Given the description of an element on the screen output the (x, y) to click on. 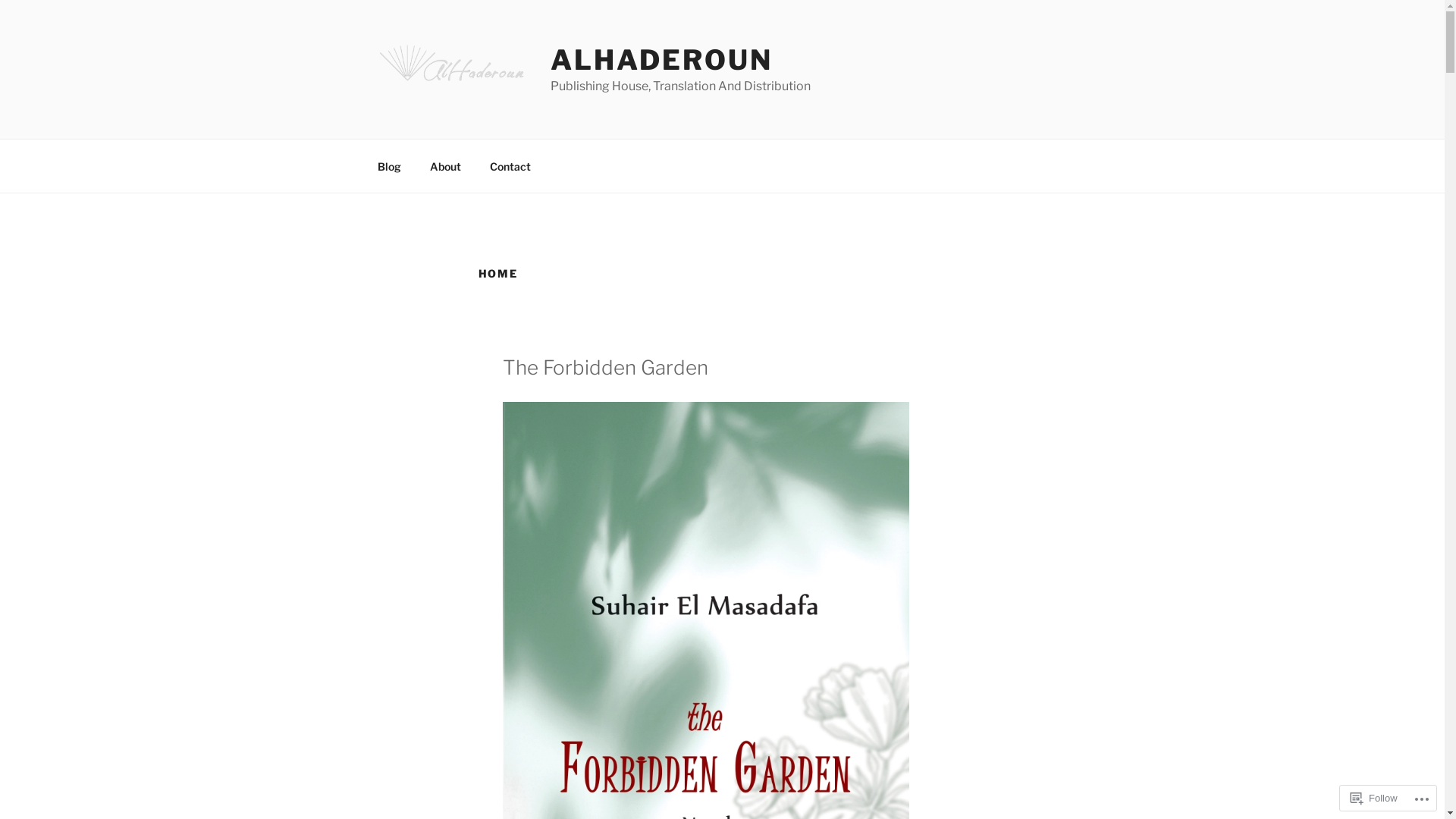
Contact Element type: text (509, 165)
Blog Element type: text (389, 165)
About Element type: text (445, 165)
Follow Element type: text (1373, 797)
ALHADEROUN Element type: text (661, 59)
